Given the description of an element on the screen output the (x, y) to click on. 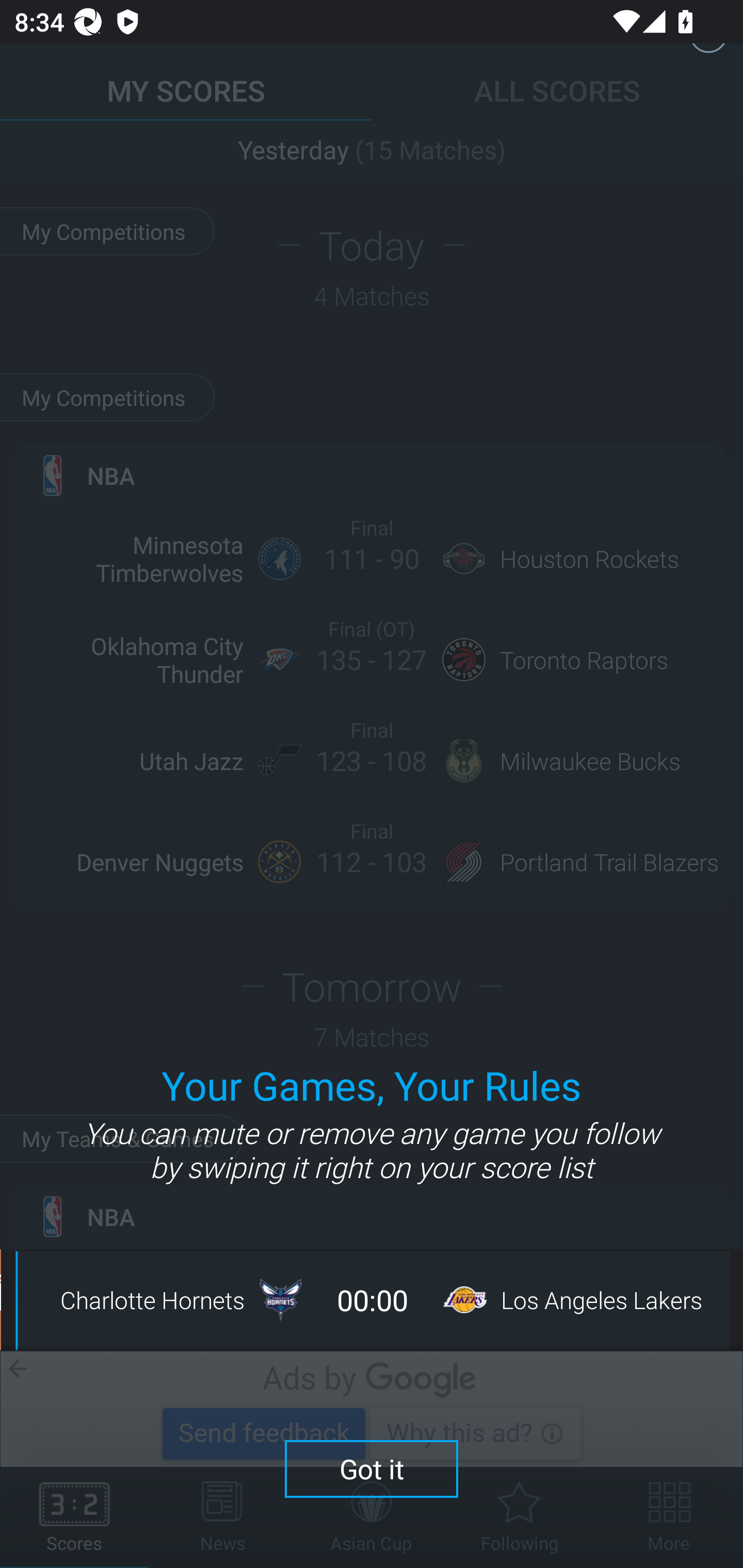
Charlotte Hornets 00:00 Los Angeles Lakers (371, 1299)
Got it (371, 1468)
